Given the description of an element on the screen output the (x, y) to click on. 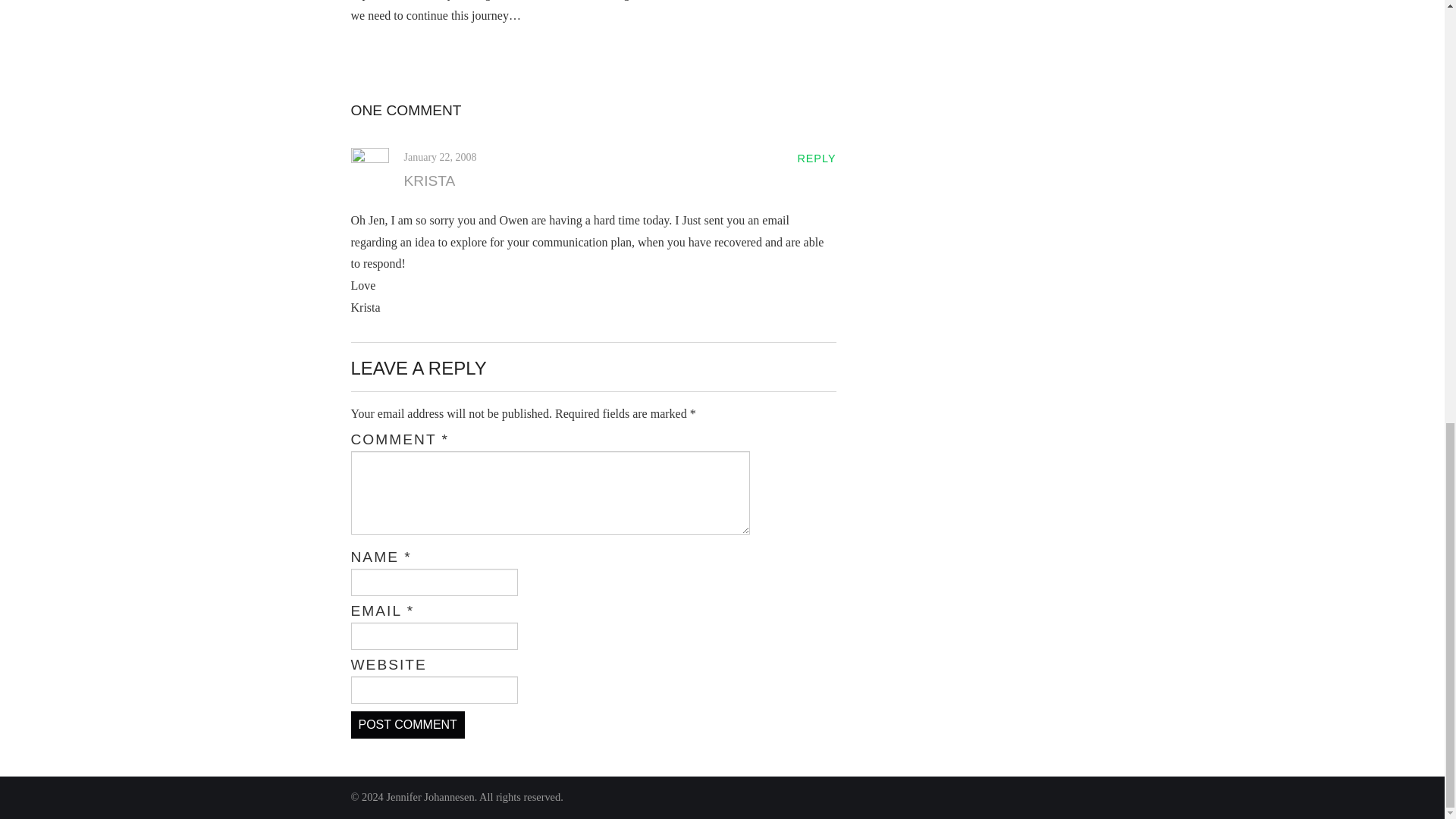
Post Comment (407, 724)
Post Comment (407, 724)
January 22, 2008 (439, 156)
REPLY (815, 158)
